Given the description of an element on the screen output the (x, y) to click on. 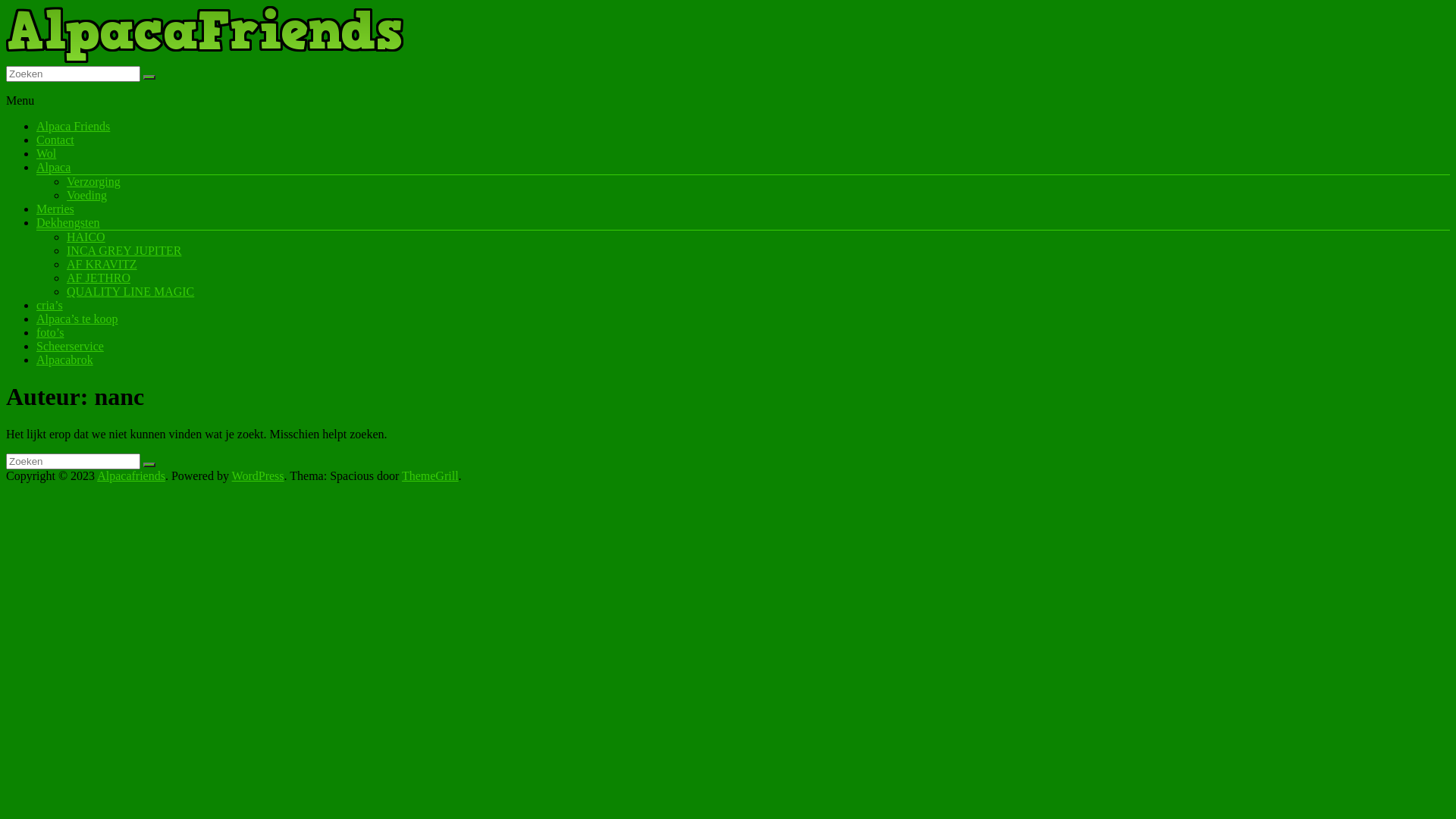
Wol Element type: text (46, 153)
WordPress Element type: text (258, 475)
Alpacafriends Element type: text (131, 475)
Contact Element type: text (55, 139)
HAICO Element type: text (85, 236)
Verzorging Element type: text (93, 181)
Alpaca Friends Element type: text (72, 125)
Alpacabrok Element type: text (64, 359)
INCA GREY JUPITER Element type: text (123, 250)
Alpaca Element type: text (53, 166)
Merries Element type: text (55, 208)
AF KRAVITZ Element type: text (101, 263)
ThemeGrill Element type: text (429, 475)
AF JETHRO Element type: text (98, 277)
Dekhengsten Element type: text (68, 222)
QUALITY LINE MAGIC Element type: text (130, 291)
Alpacafriends Element type: text (48, 88)
Voeding Element type: text (86, 194)
Scheerservice Element type: text (69, 345)
